Given the description of an element on the screen output the (x, y) to click on. 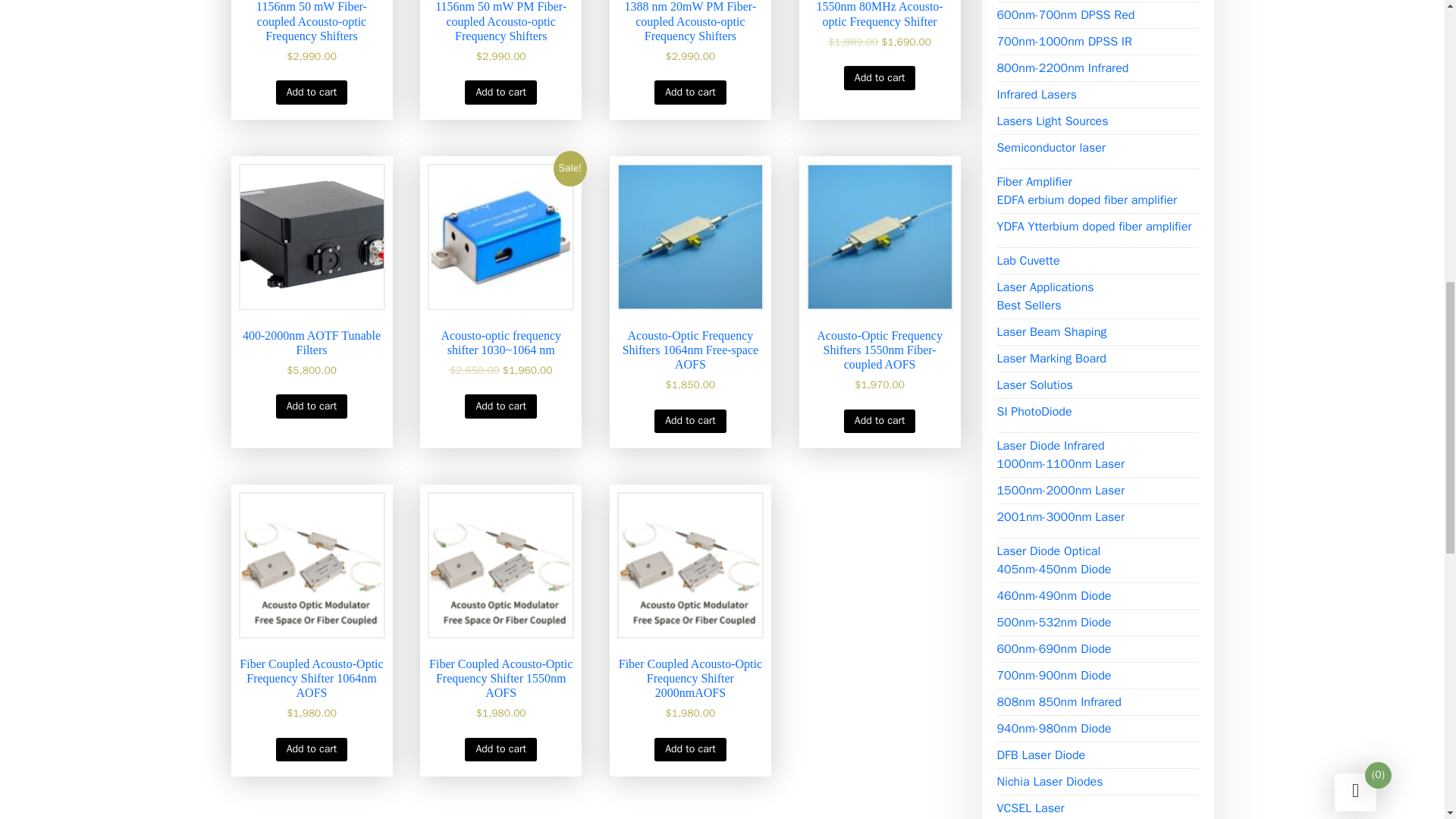
Add to cart (689, 92)
Add to cart (500, 92)
Add to cart (311, 92)
Add to cart (311, 405)
Add to cart (879, 77)
